Given the description of an element on the screen output the (x, y) to click on. 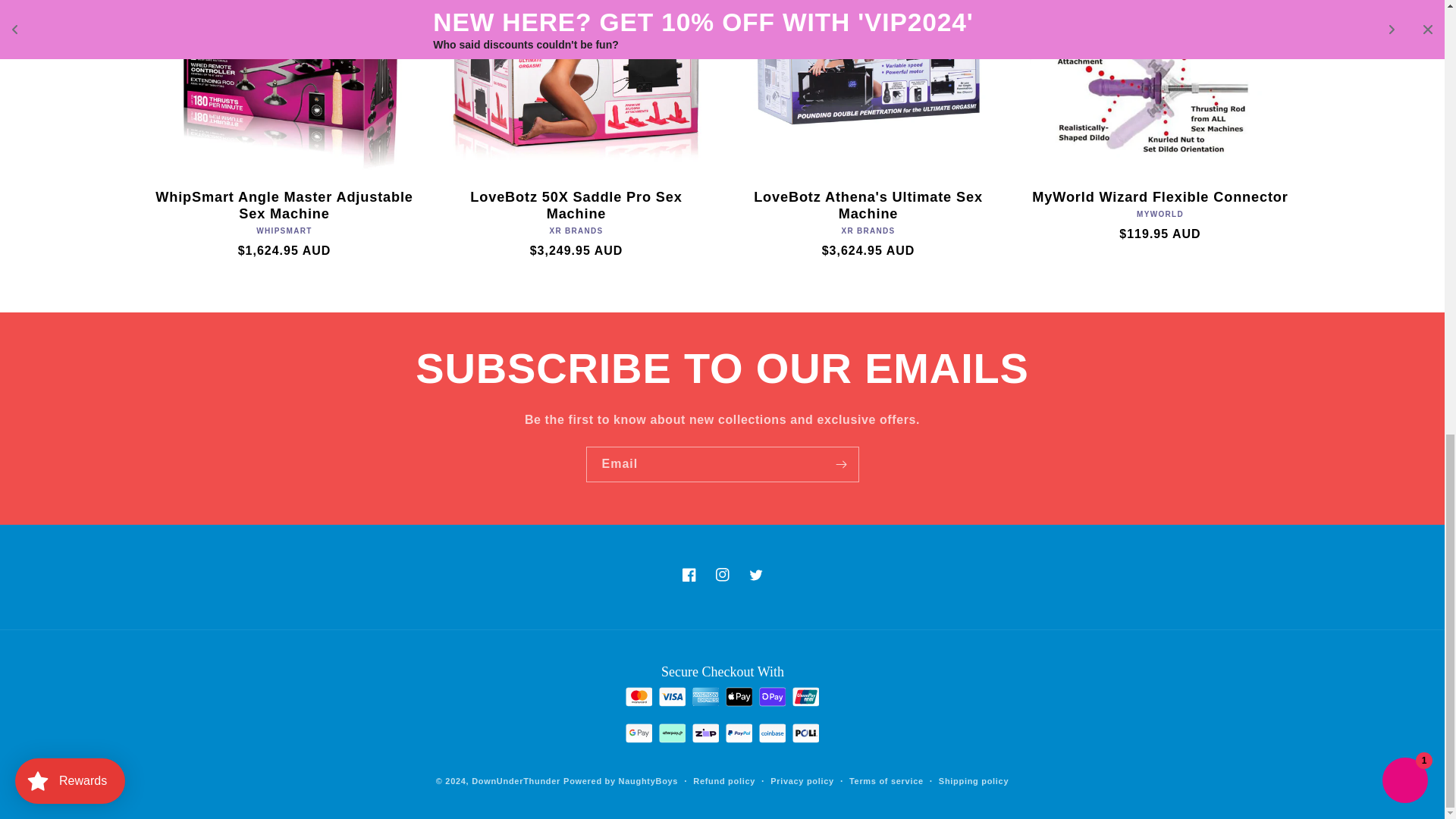
trust-badges-widget (721, 709)
